Given the description of an element on the screen output the (x, y) to click on. 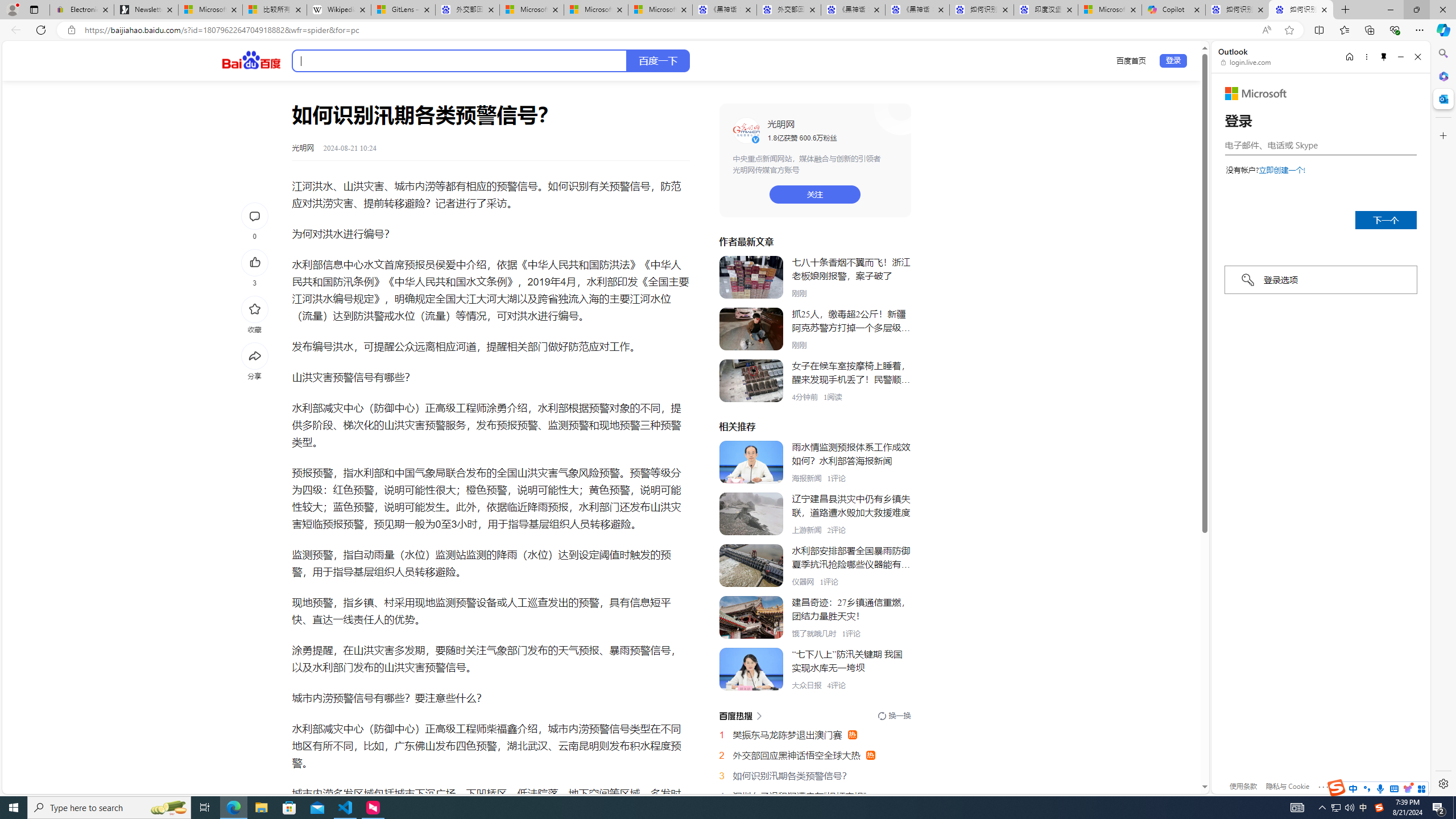
Class: _3aYo6 (751, 380)
Copilot (1173, 9)
